Given the description of an element on the screen output the (x, y) to click on. 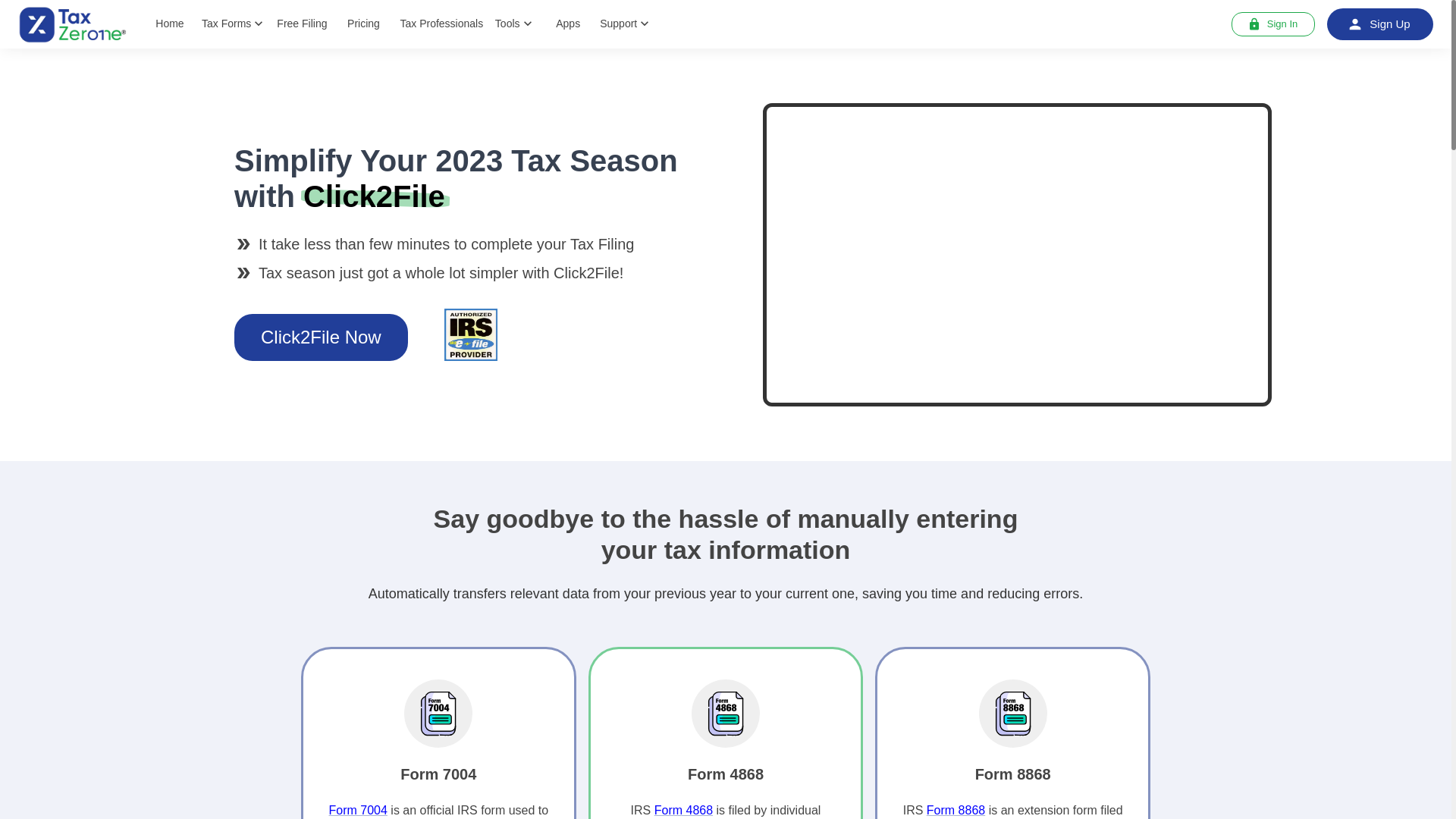
Tax Forms (233, 24)
Home (169, 23)
